Given the description of an element on the screen output the (x, y) to click on. 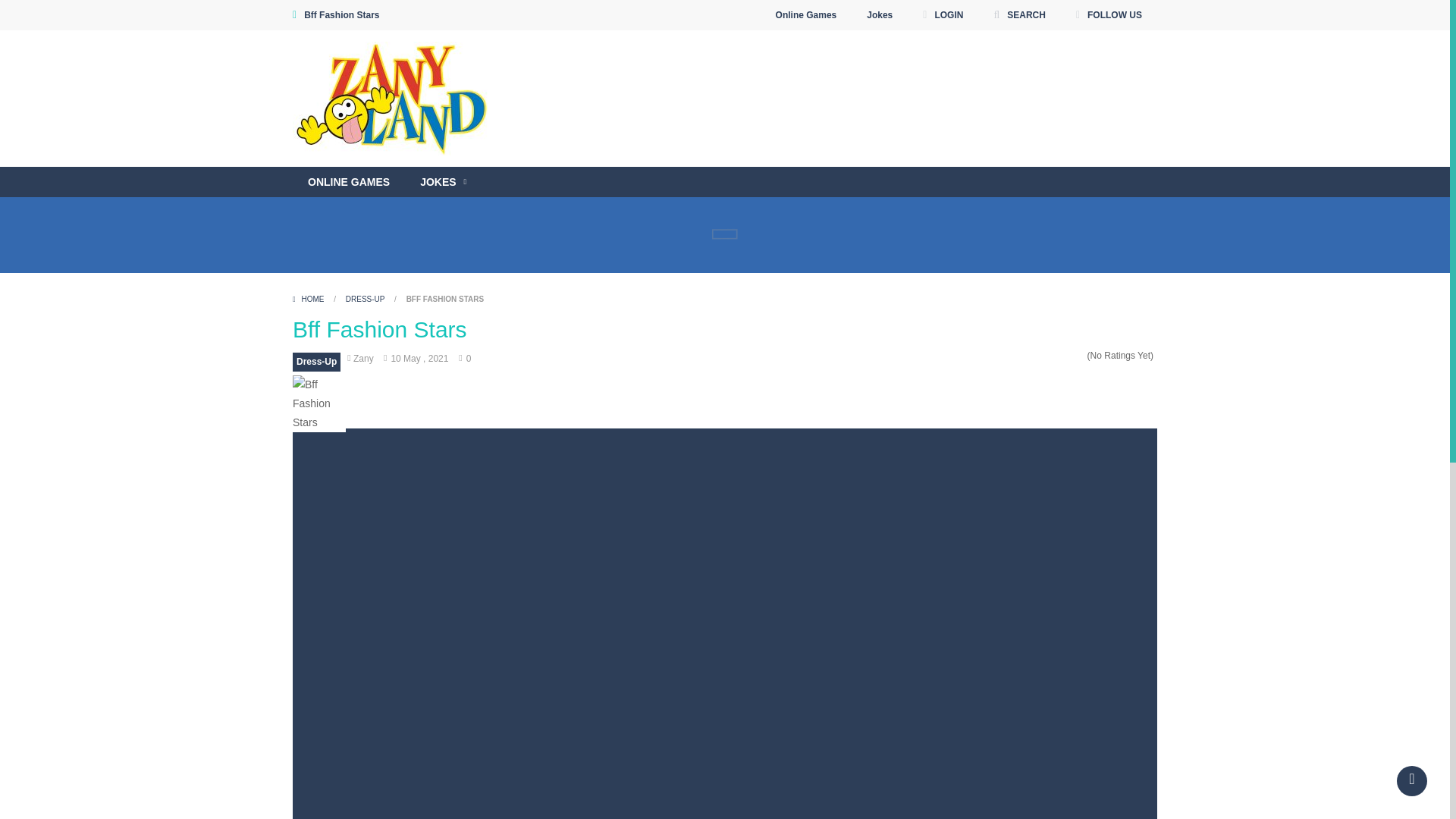
Play Free Games at ZanyLand (394, 97)
FOLLOW US (1108, 15)
ONLINE GAMES (348, 182)
SEARCH (1019, 15)
YouTube video player (817, 160)
Play Free Games at ZanyLand (394, 98)
LOGIN (942, 15)
JOKES (442, 182)
Jokes (880, 15)
Online Games (806, 15)
